Given the description of an element on the screen output the (x, y) to click on. 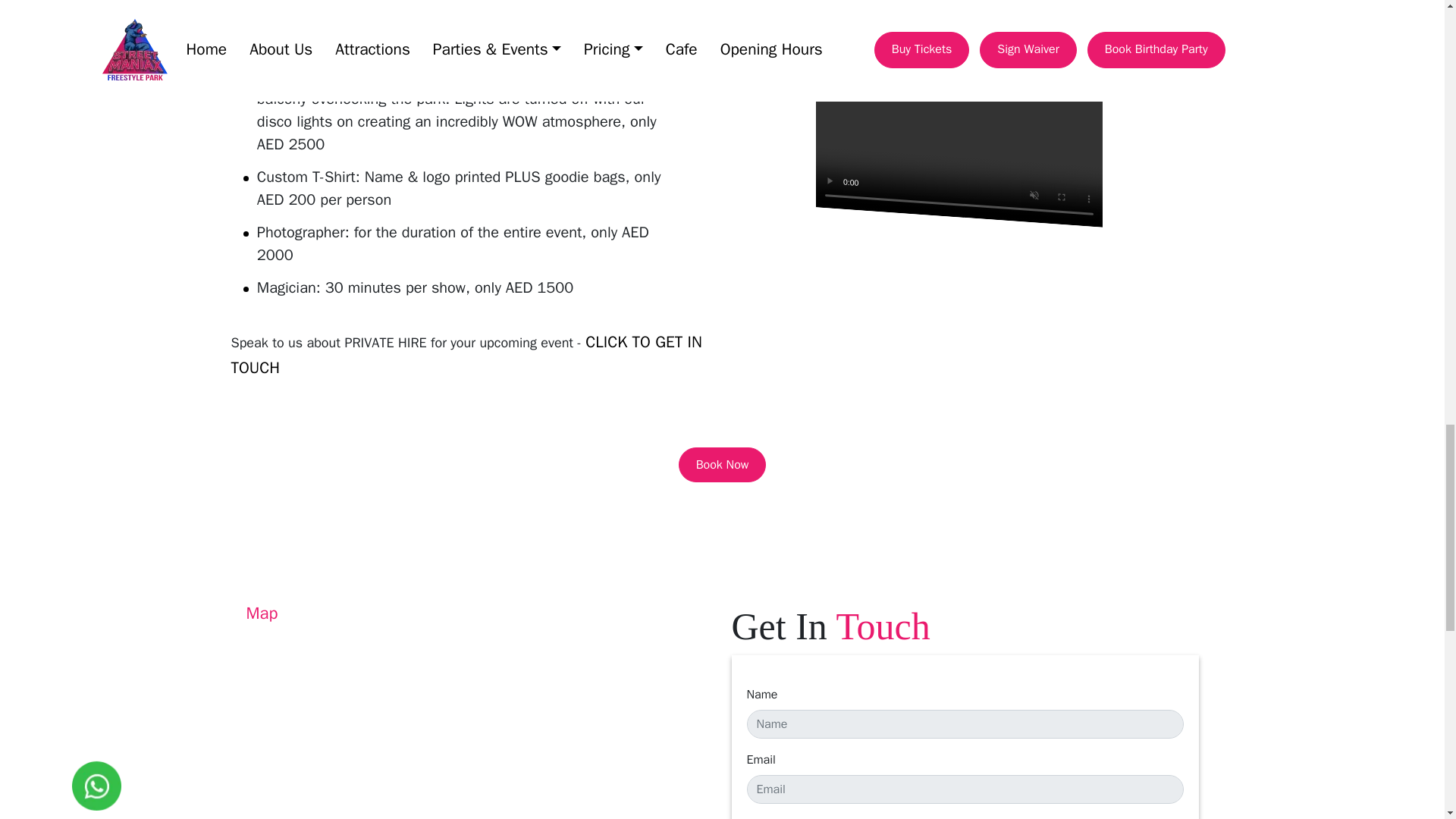
CLICK TO GET IN TOUCH (465, 354)
